Given the description of an element on the screen output the (x, y) to click on. 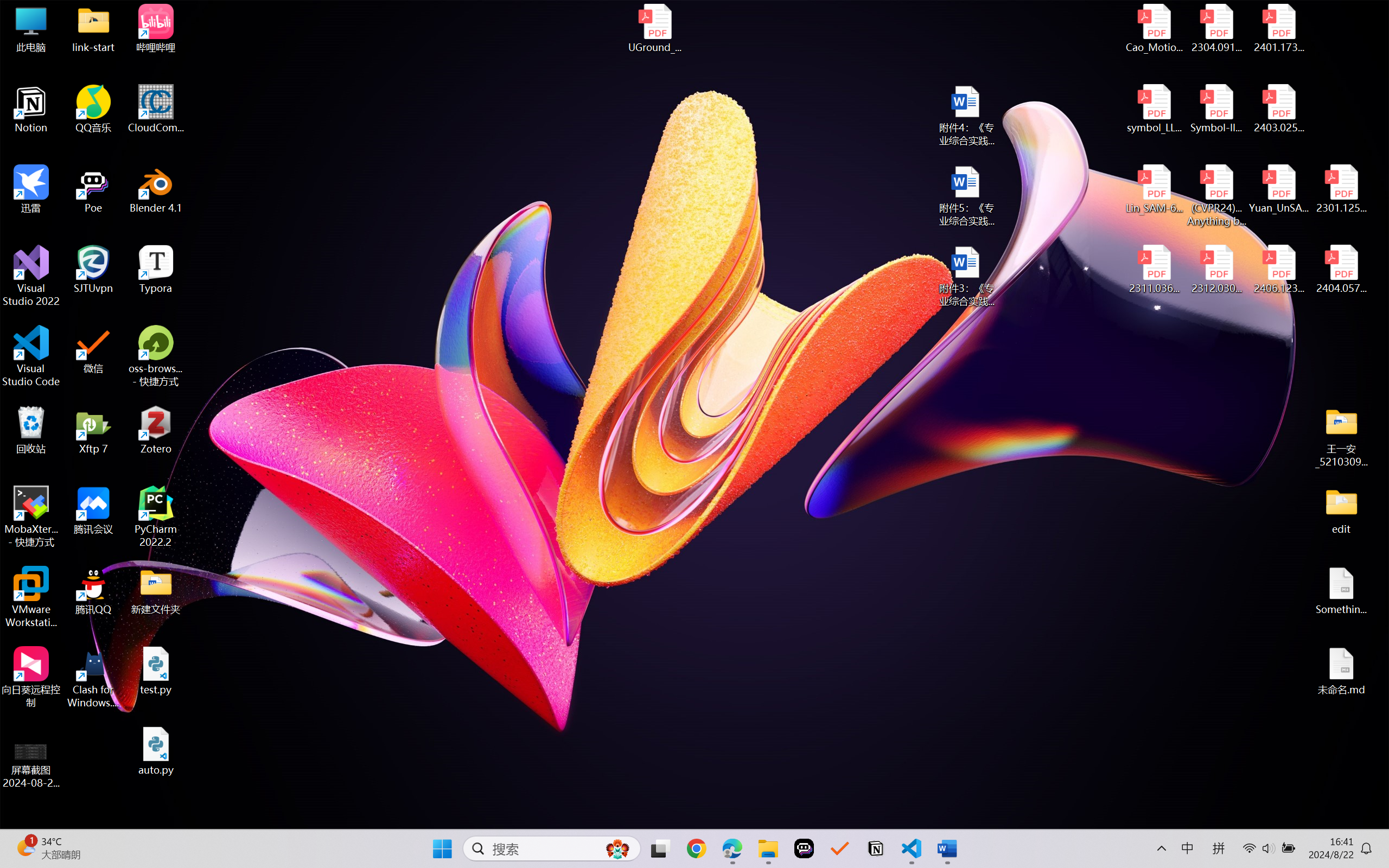
2401.17399v1.pdf (1278, 28)
Poe (804, 848)
2311.03658v2.pdf (1154, 269)
2304.09121v3.pdf (1216, 28)
symbol_LLM.pdf (1154, 109)
Typora (156, 269)
Something.md (1340, 591)
